Given the description of an element on the screen output the (x, y) to click on. 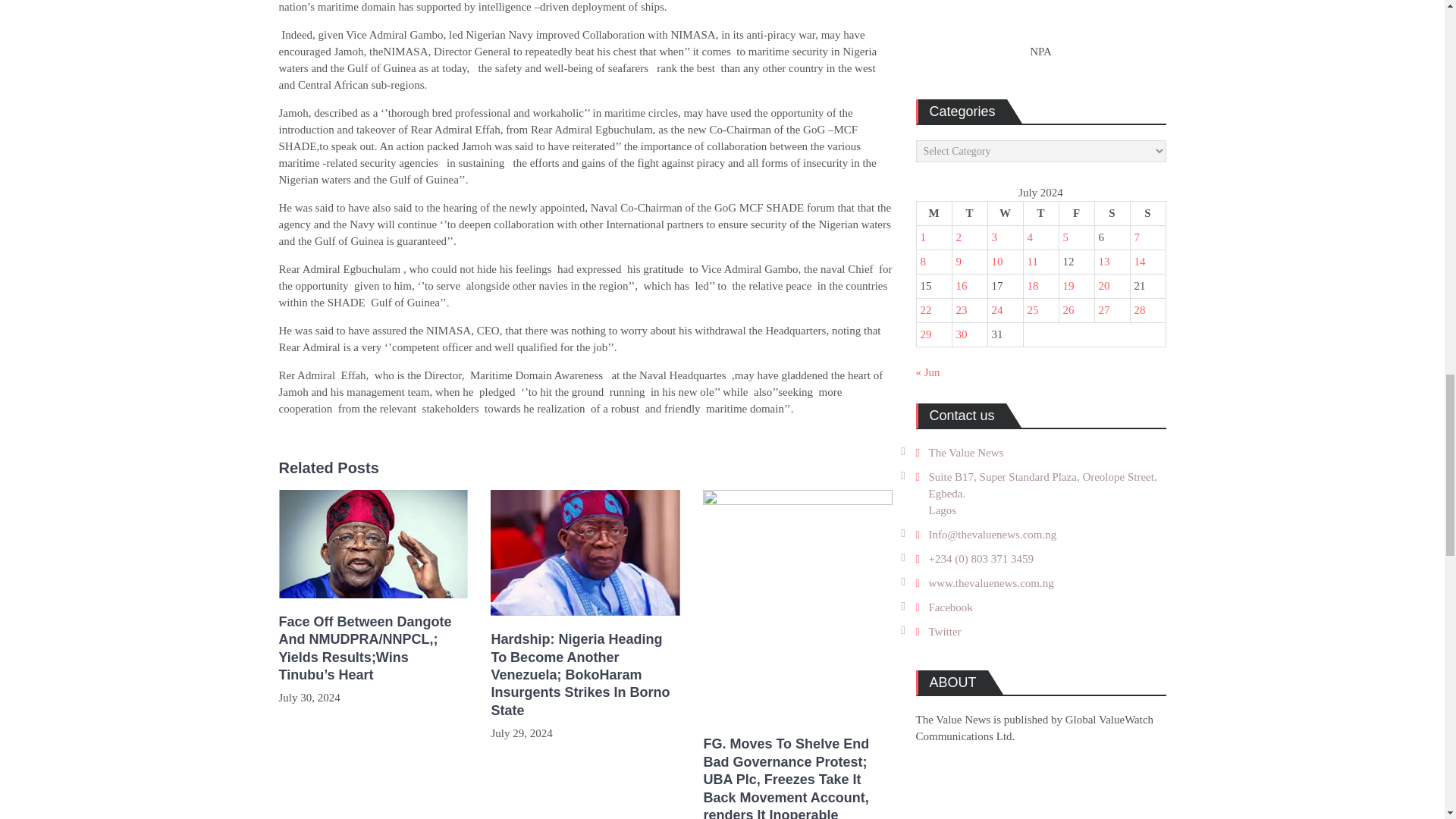
Friday (1076, 213)
Thursday (1040, 213)
Monday (933, 213)
Tuesday (969, 213)
Sunday (1147, 213)
Wednesday (1005, 213)
Saturday (1111, 213)
